Given the description of an element on the screen output the (x, y) to click on. 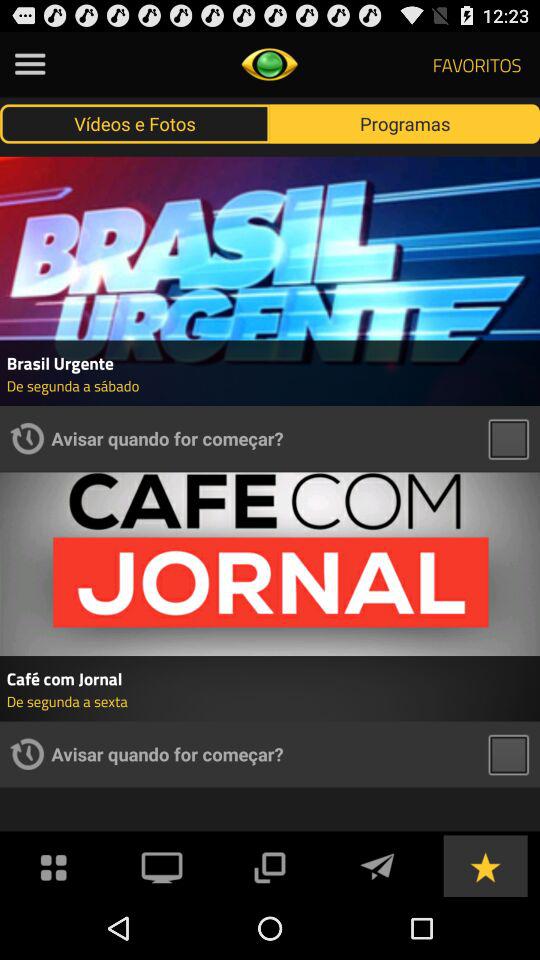
open app above the de segunda a app (269, 677)
